Given the description of an element on the screen output the (x, y) to click on. 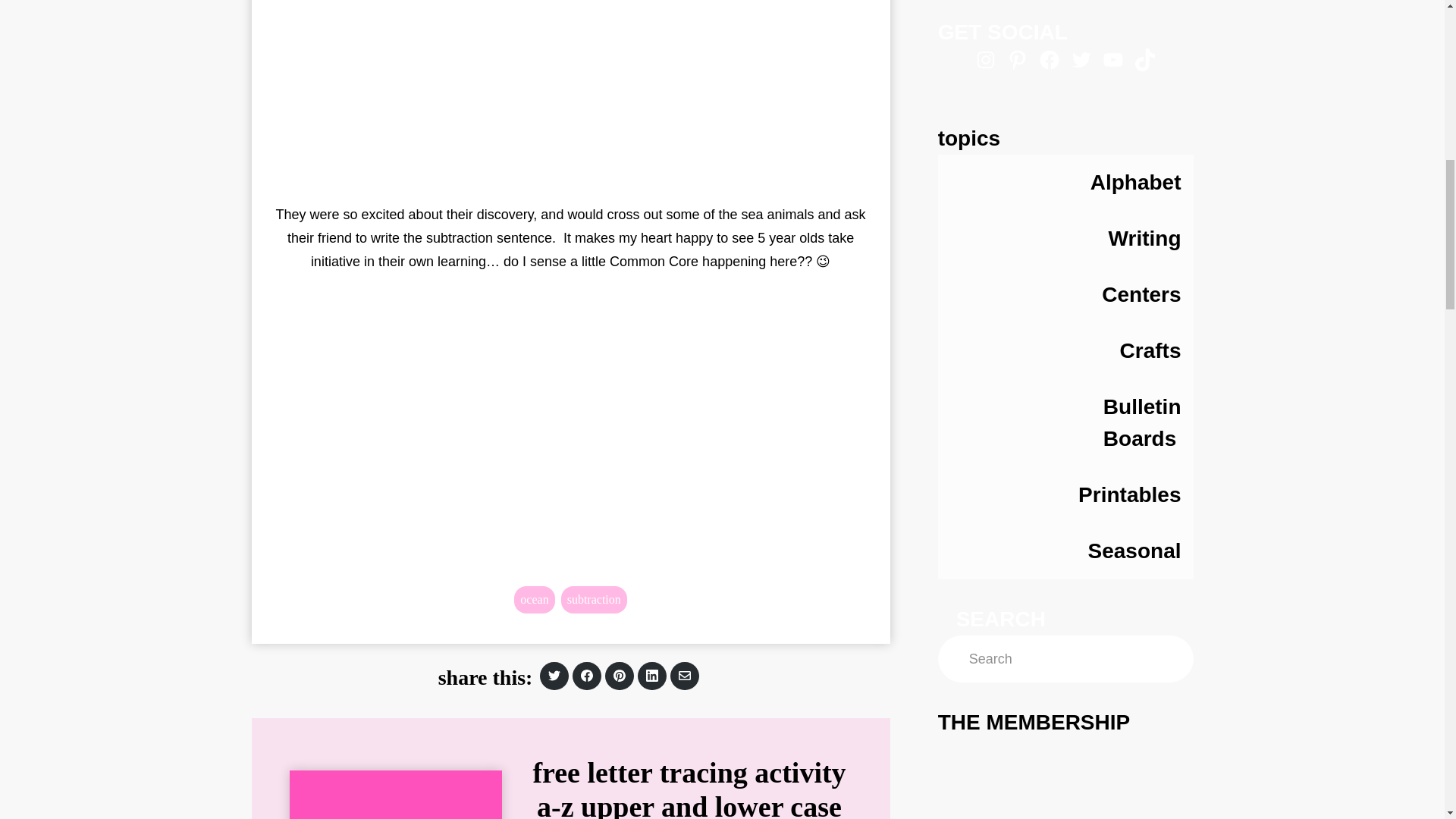
Share via Email (684, 675)
Share on Pinterest (619, 675)
ocean (533, 599)
Share on Twitter (554, 675)
Share on Facebook (554, 675)
Share on Twitter (586, 675)
Share on Pinterest (554, 675)
Share via Email (619, 675)
